Given the description of an element on the screen output the (x, y) to click on. 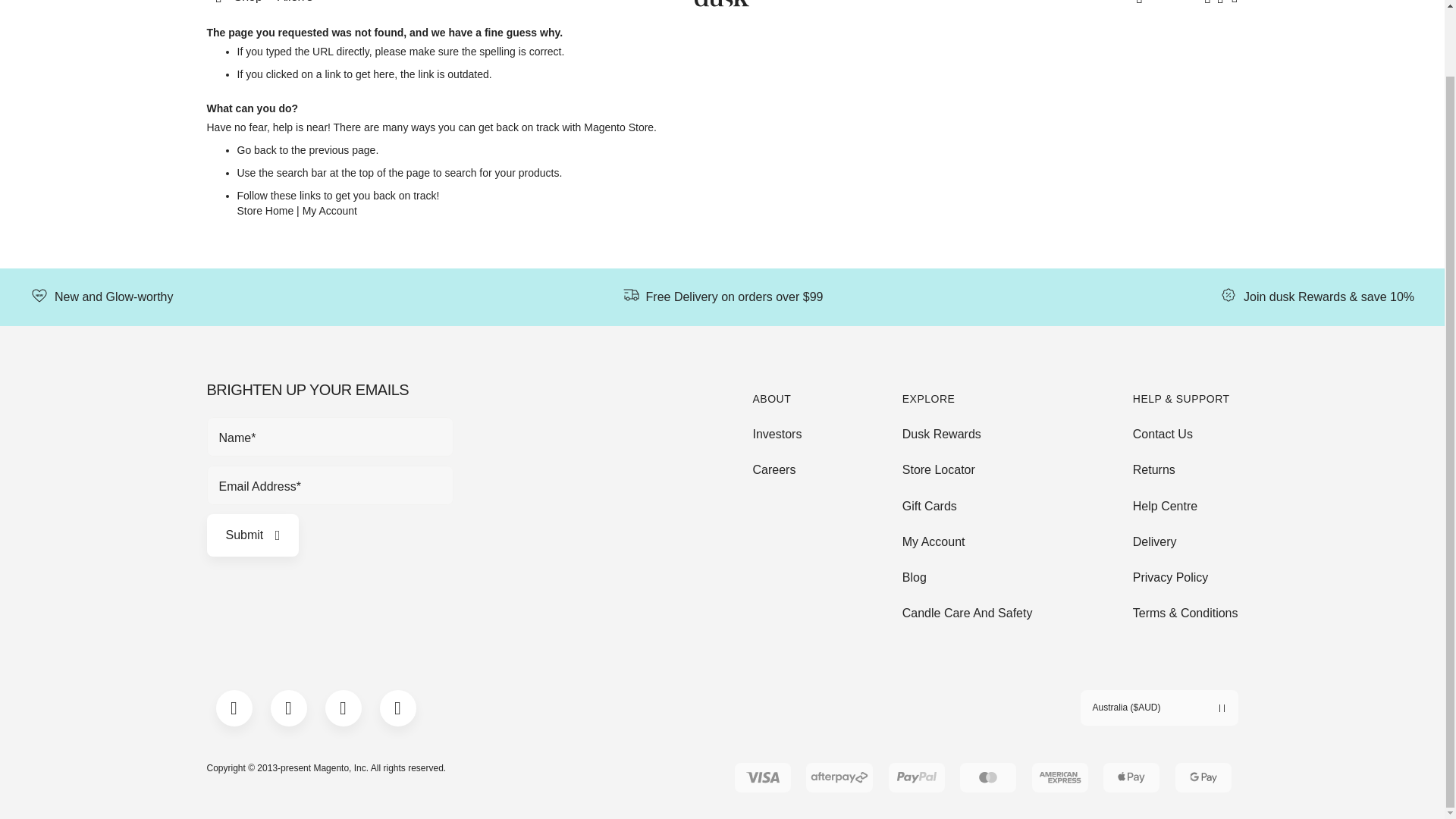
Shop (234, 2)
Toggling menu (234, 2)
